Given the description of an element on the screen output the (x, y) to click on. 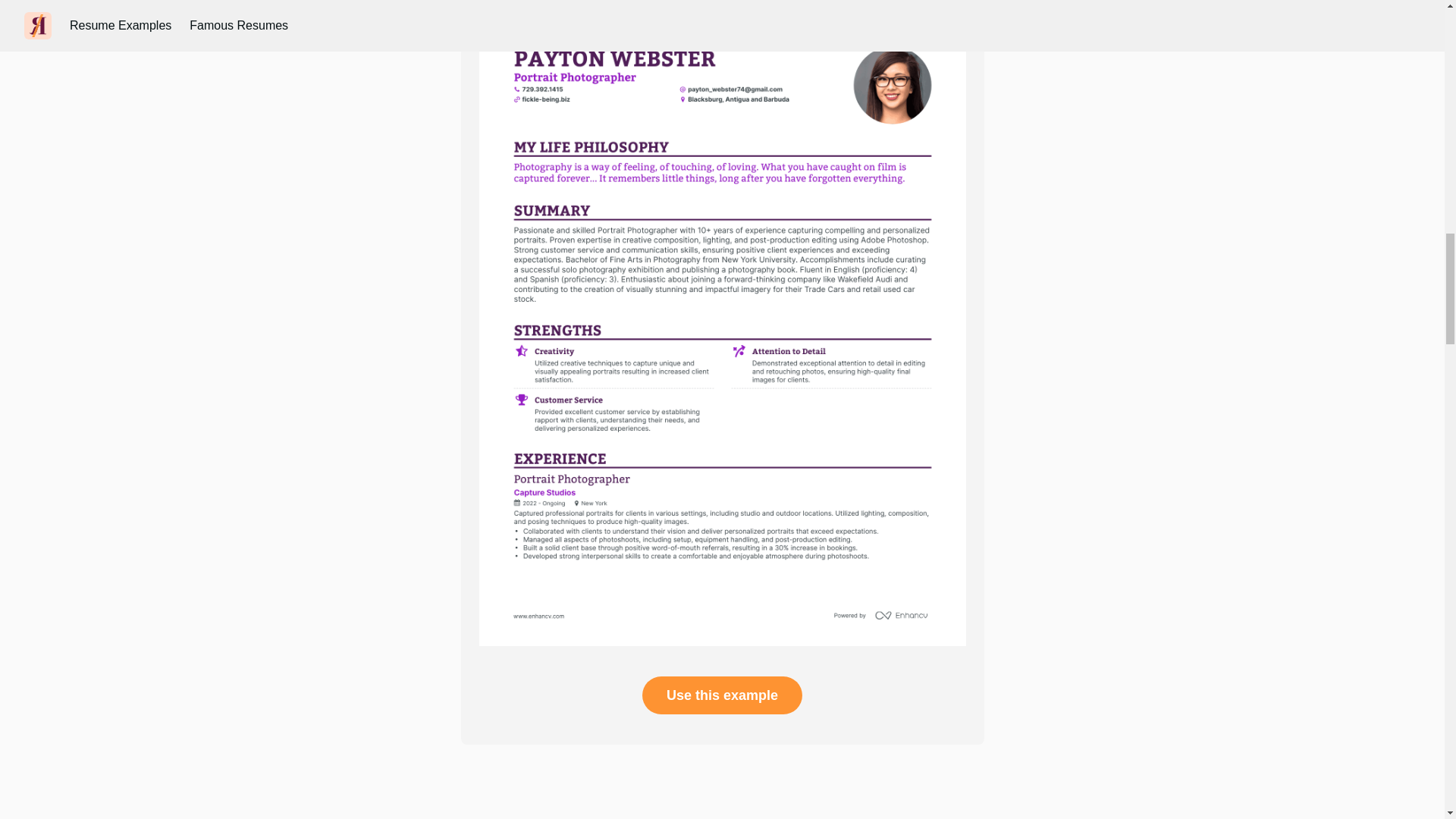
Use this example (722, 695)
